Given the description of an element on the screen output the (x, y) to click on. 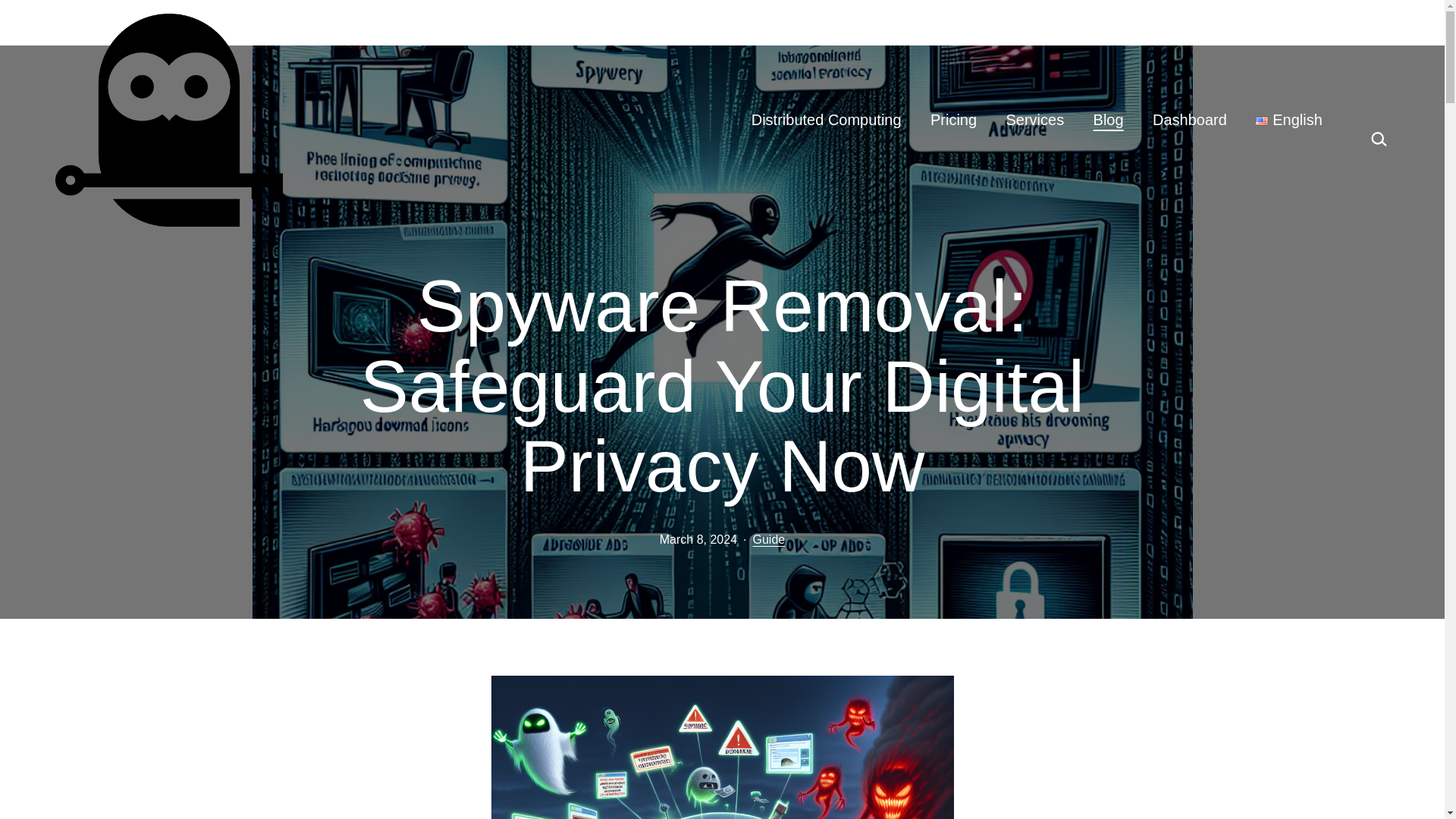
Dashboard (1189, 119)
Blog (1107, 119)
Pricing (953, 119)
Guide (769, 539)
Distributed Computing (826, 119)
English (1289, 119)
Services (1034, 119)
